Given the description of an element on the screen output the (x, y) to click on. 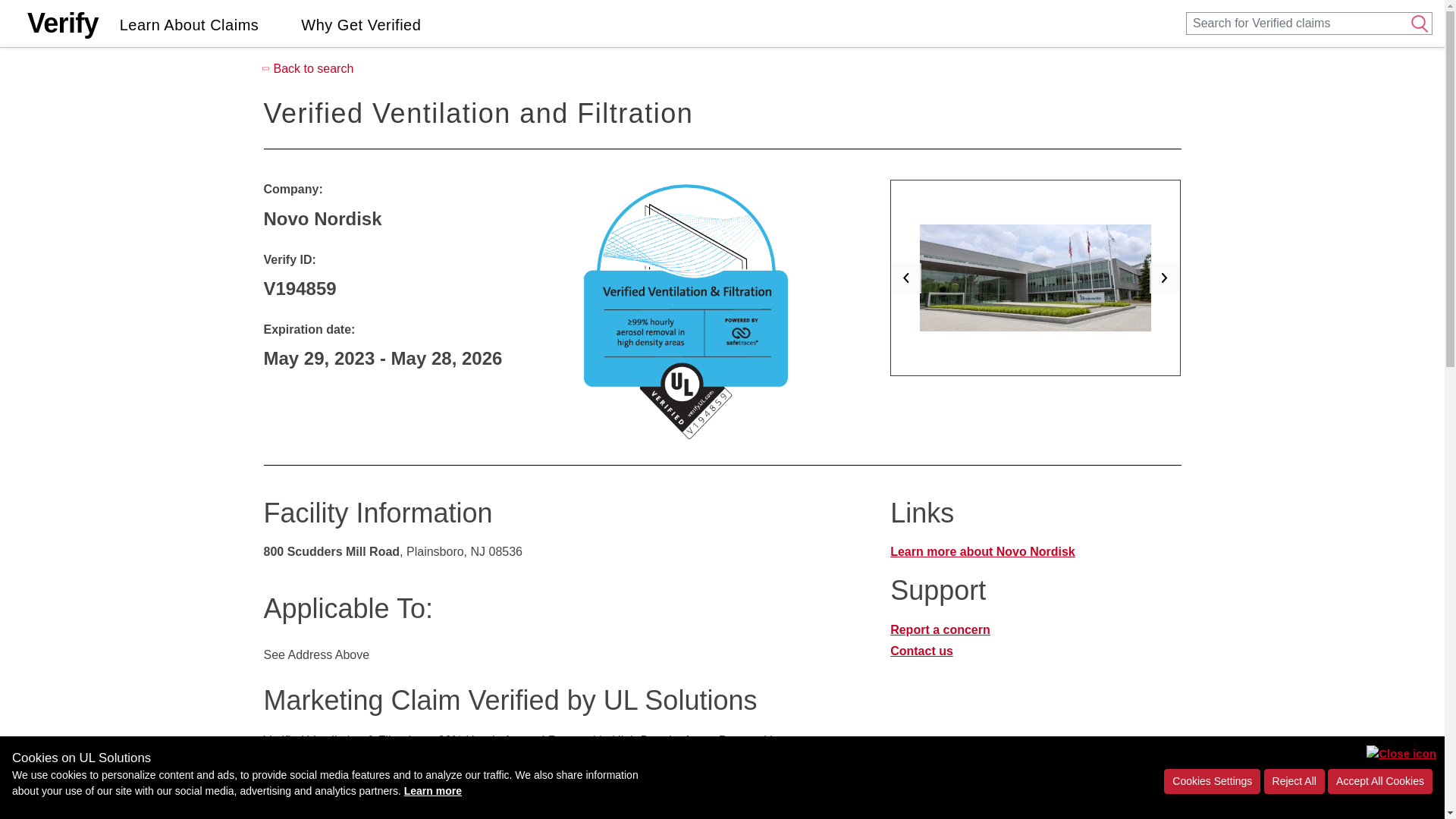
Accept All Cookies (1379, 781)
Reject All (1293, 781)
Why Get Verified (360, 23)
Learn About Claims (188, 23)
Contact us (921, 650)
Cookies Settings (1211, 781)
Verify (63, 22)
Learn more (432, 790)
Back to search (721, 68)
Learn more about Novo Nordisk (1023, 551)
Report a concern (939, 629)
